Given the description of an element on the screen output the (x, y) to click on. 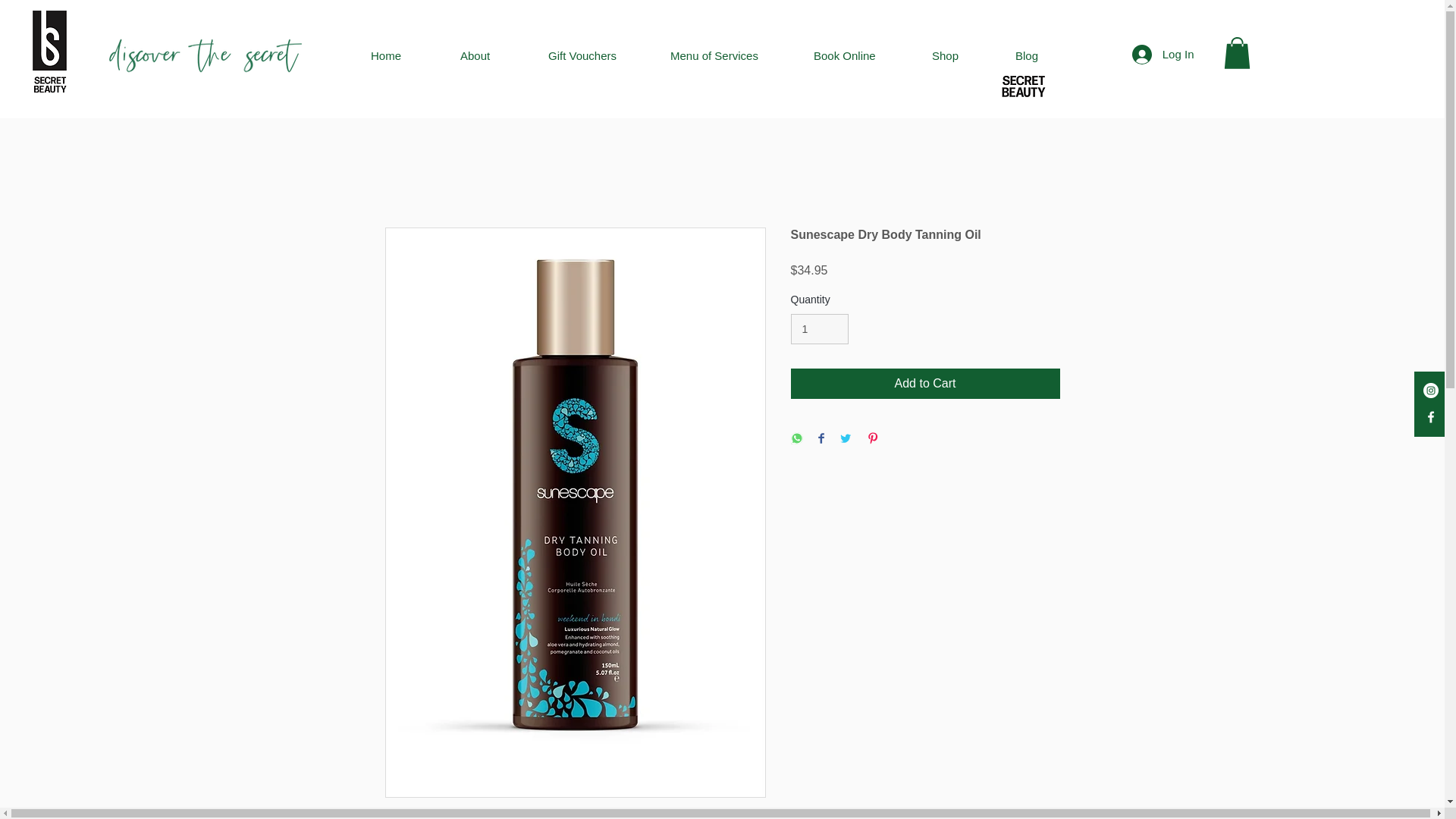
Add to Cart (924, 383)
Shop (962, 55)
Menu of Services (730, 55)
Blog (1044, 55)
Book Online (861, 55)
Log In (1163, 53)
About (492, 55)
Gift Vouchers (598, 55)
1 (818, 328)
Home (403, 55)
